Given the description of an element on the screen output the (x, y) to click on. 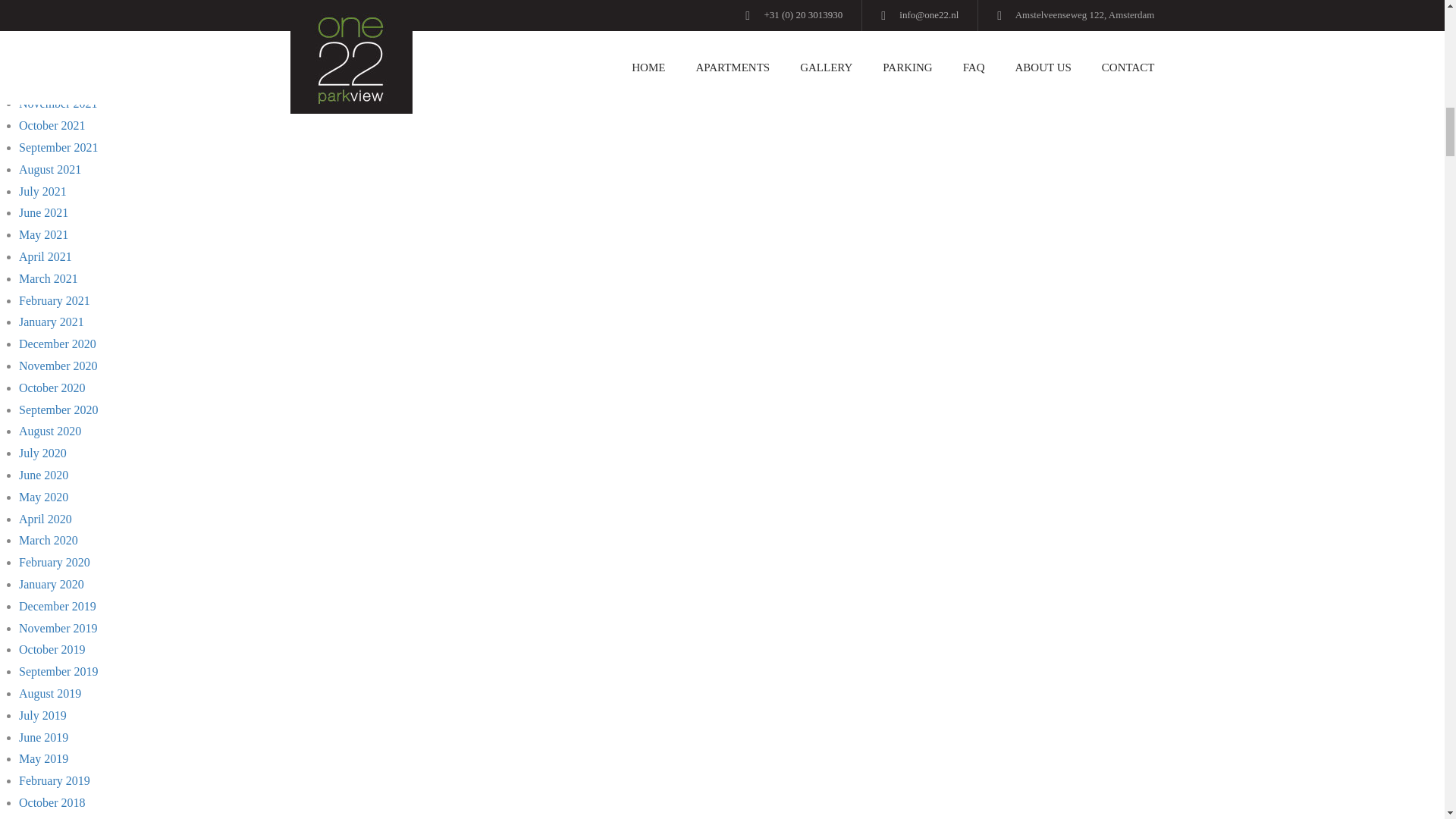
December 2021 (57, 82)
April 2021 (44, 256)
May 2021 (43, 234)
June 2021 (43, 212)
January 2022 (51, 60)
July 2021 (42, 191)
February 2022 (54, 38)
October 2021 (51, 124)
August 2021 (49, 169)
April 2022 (44, 0)
